Given the description of an element on the screen output the (x, y) to click on. 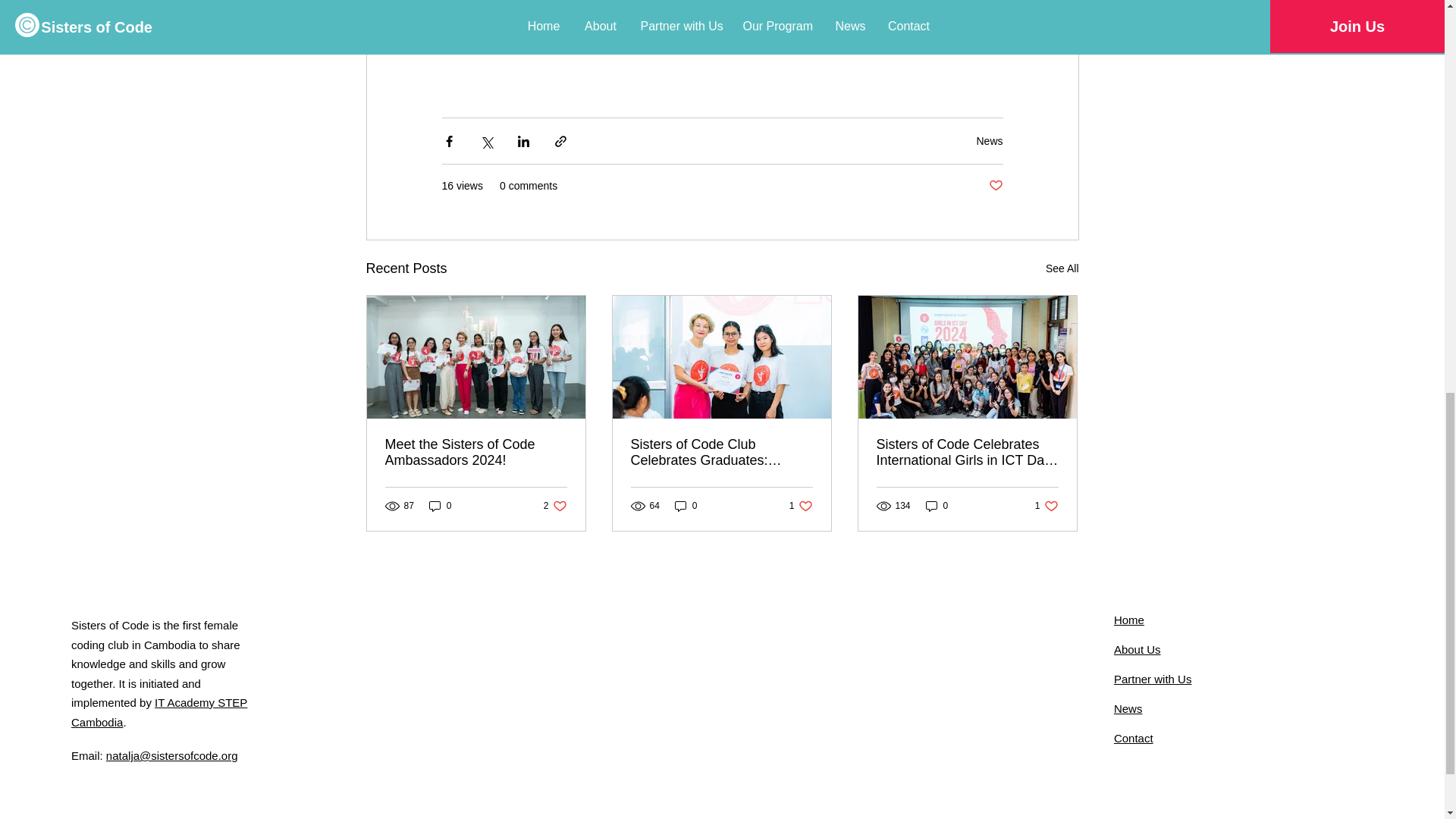
0 (937, 505)
0 (685, 505)
News (555, 505)
Meet the Sisters of Code Ambassadors 2024! (989, 141)
0 (800, 505)
Post not marked as liked (1046, 505)
